Given the description of an element on the screen output the (x, y) to click on. 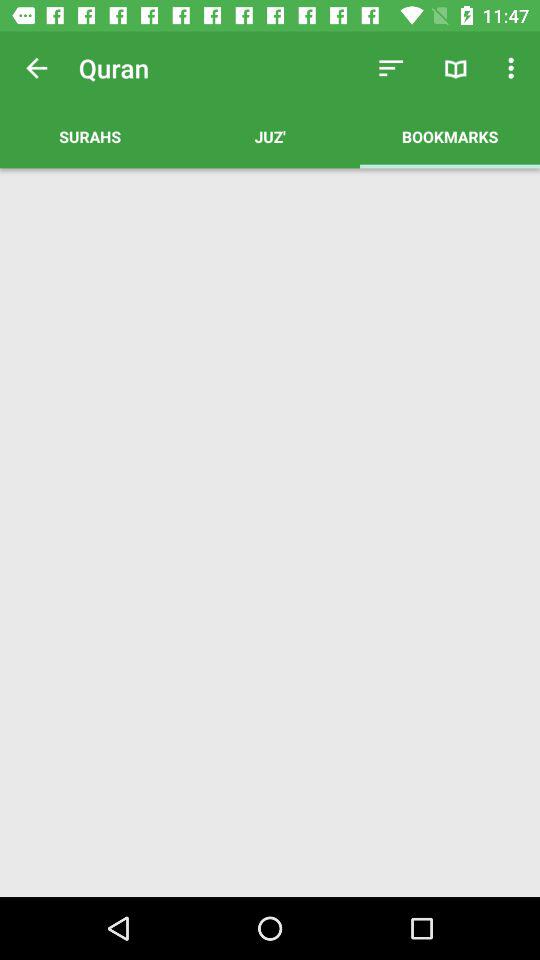
click the app to the left of quran item (36, 68)
